Given the description of an element on the screen output the (x, y) to click on. 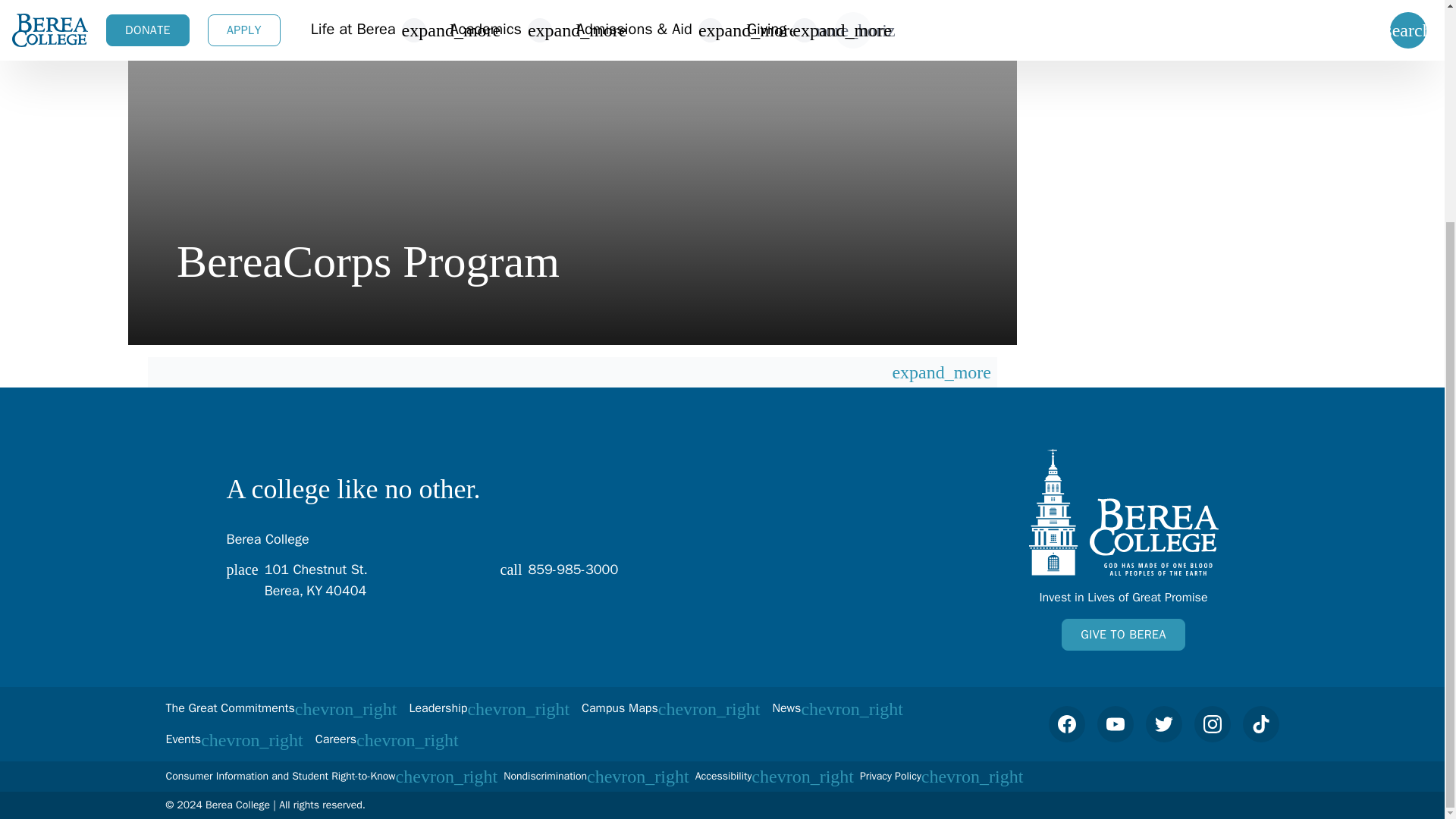
GIVE TO BEREA (613, 578)
Berea - A college like no other (1123, 634)
